Given the description of an element on the screen output the (x, y) to click on. 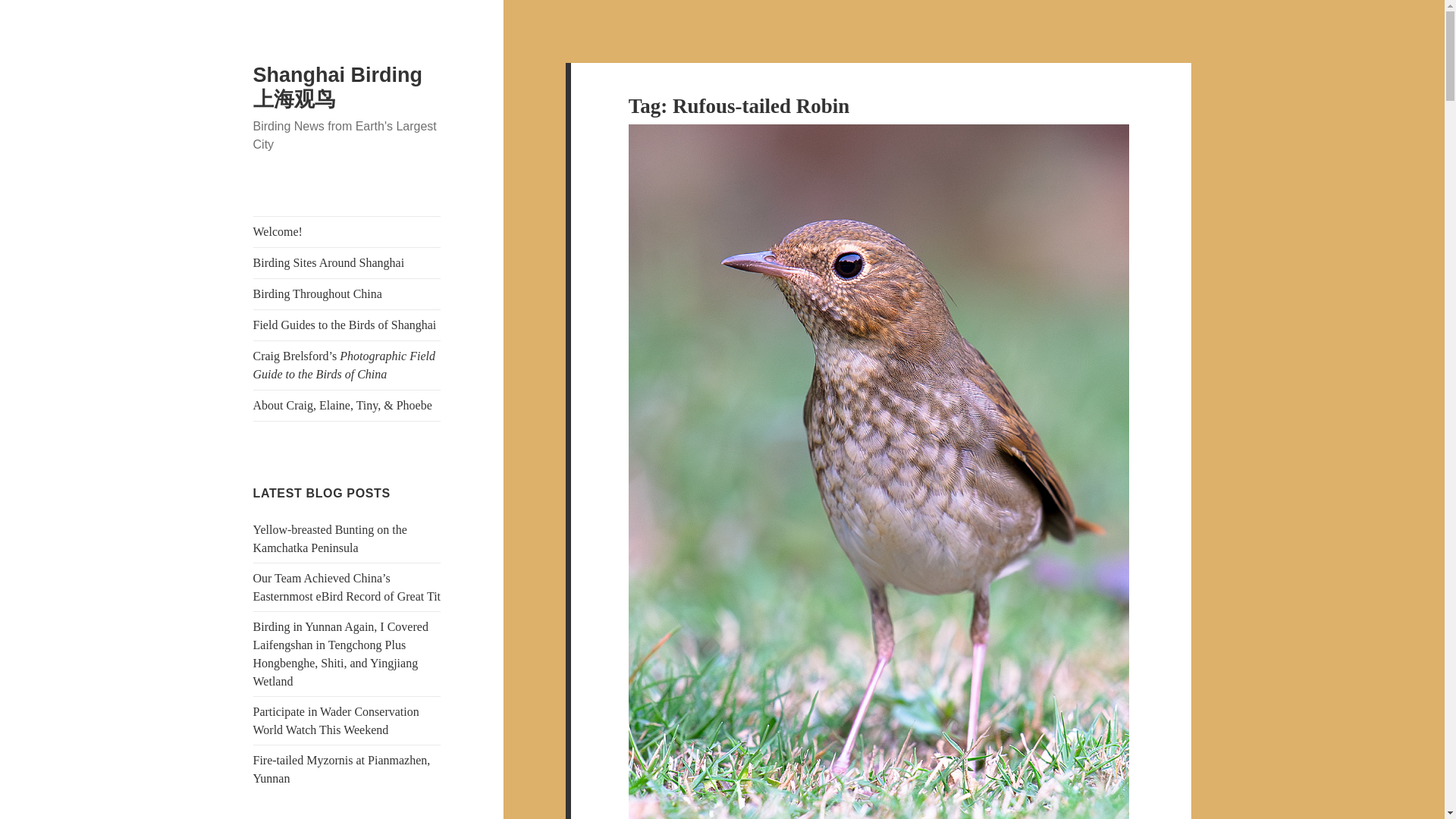
Participate in Wader Conservation World Watch This Weekend (336, 720)
Welcome! (347, 232)
Fire-tailed Myzornis at Pianmazhen, Yunnan (341, 768)
Field Guides to the Birds of Shanghai (347, 325)
Birding Sites Around Shanghai (347, 263)
Birding Throughout China (347, 294)
Yellow-breasted Bunting on the Kamchatka Peninsula (330, 538)
